Given the description of an element on the screen output the (x, y) to click on. 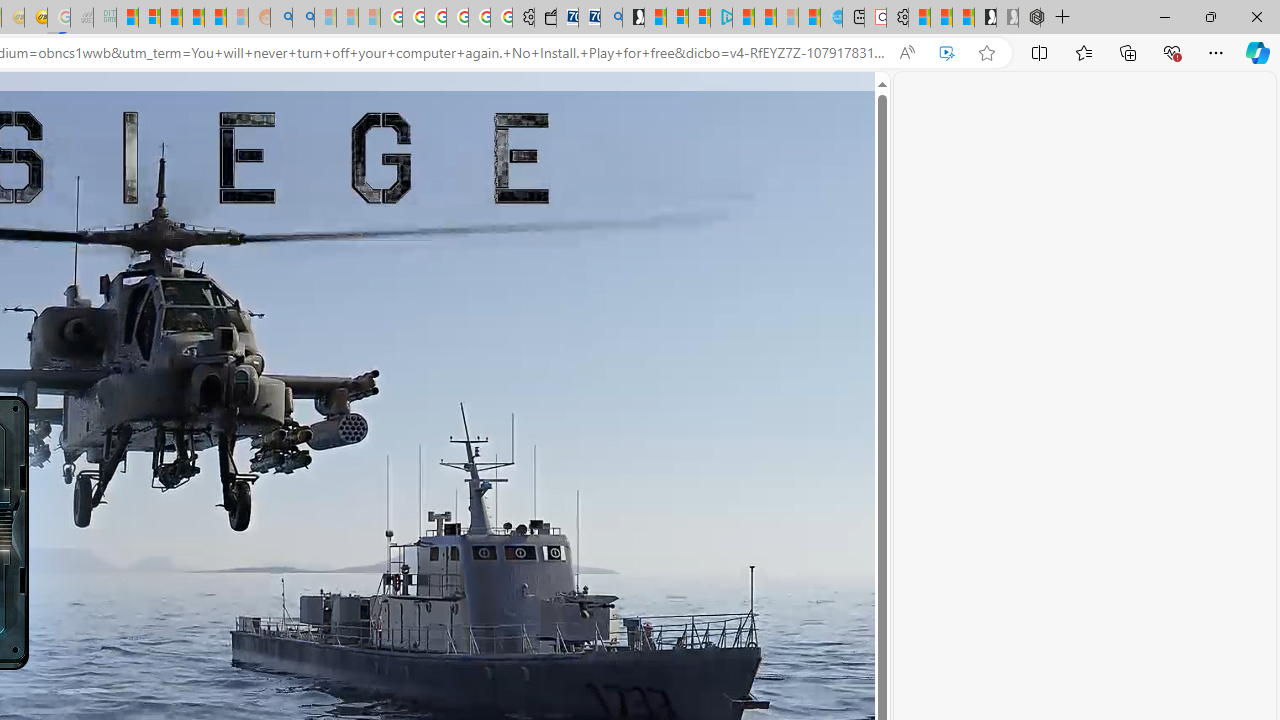
DITOGAMES AG Imprint - Sleeping (104, 17)
Wallet (545, 17)
Enhance video (946, 53)
Cheap Car Rentals - Save70.com (589, 17)
Bing Real Estate - Home sales and rental listings (611, 17)
